Given the description of an element on the screen output the (x, y) to click on. 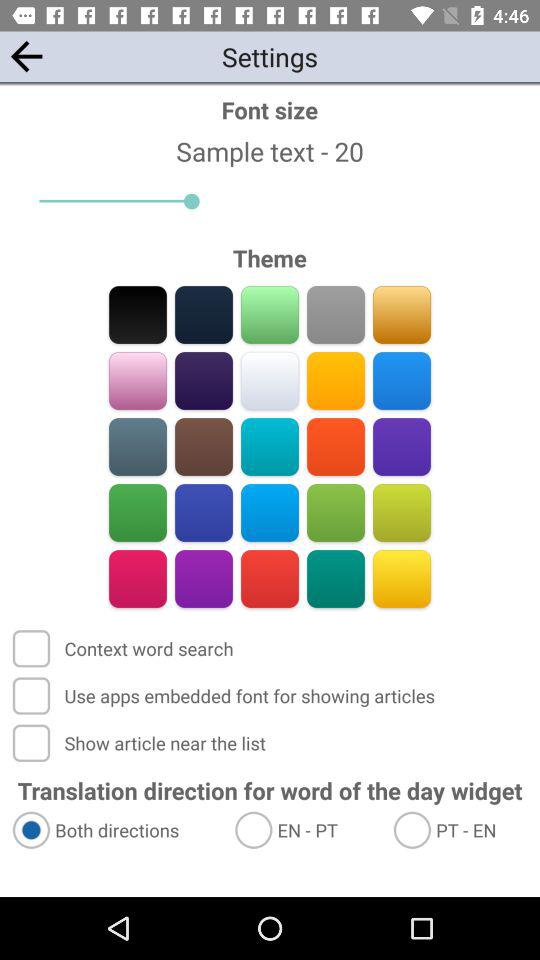
green theme color (269, 314)
